Given the description of an element on the screen output the (x, y) to click on. 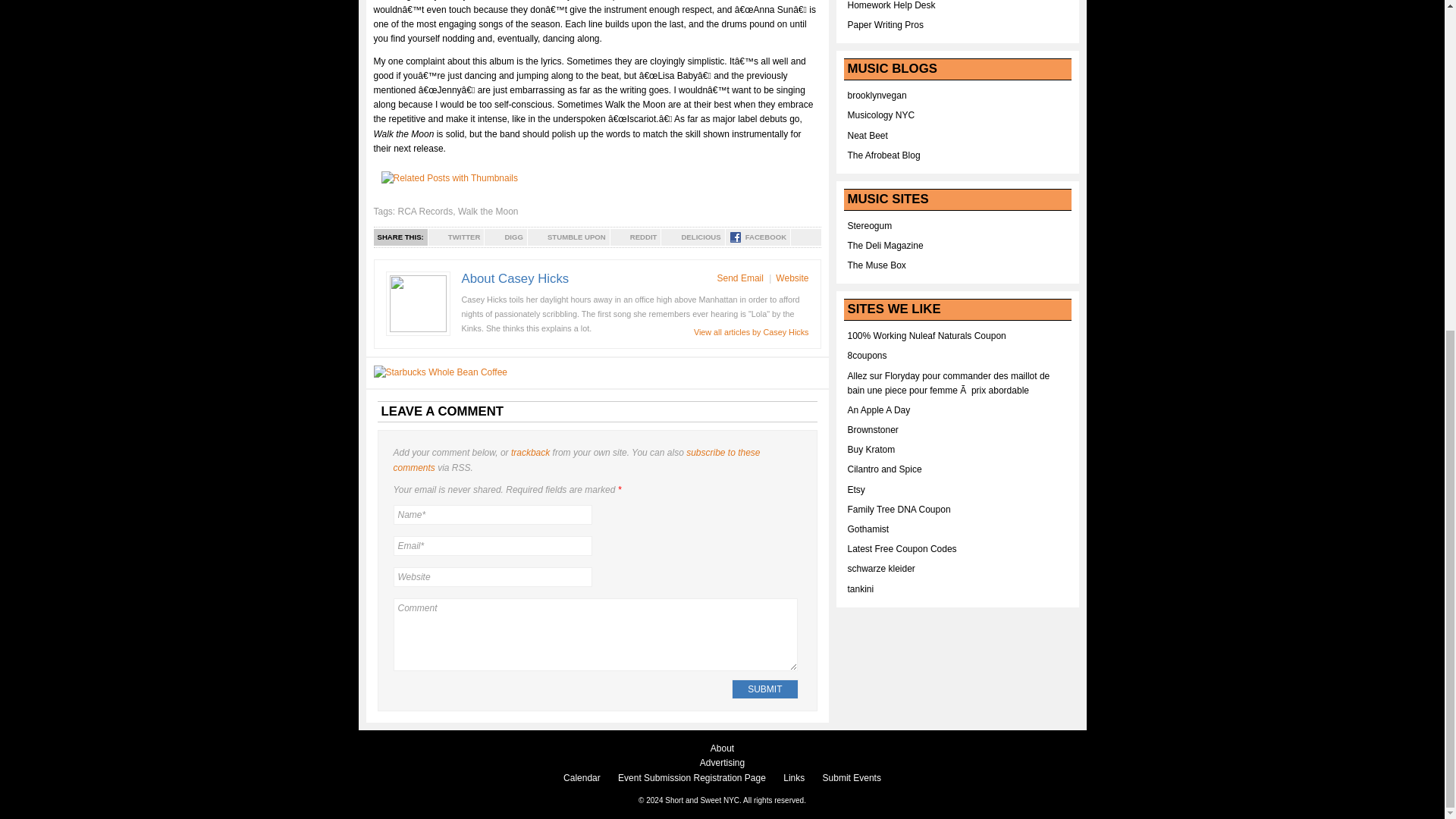
Submit (764, 689)
Paper Writing Pros (885, 24)
Verified Family Tree DNA Coupon (898, 509)
Website (492, 577)
View all posts by Casey Hicks (751, 331)
tankini (861, 588)
Homework Help Desk (891, 5)
